Given the description of an element on the screen output the (x, y) to click on. 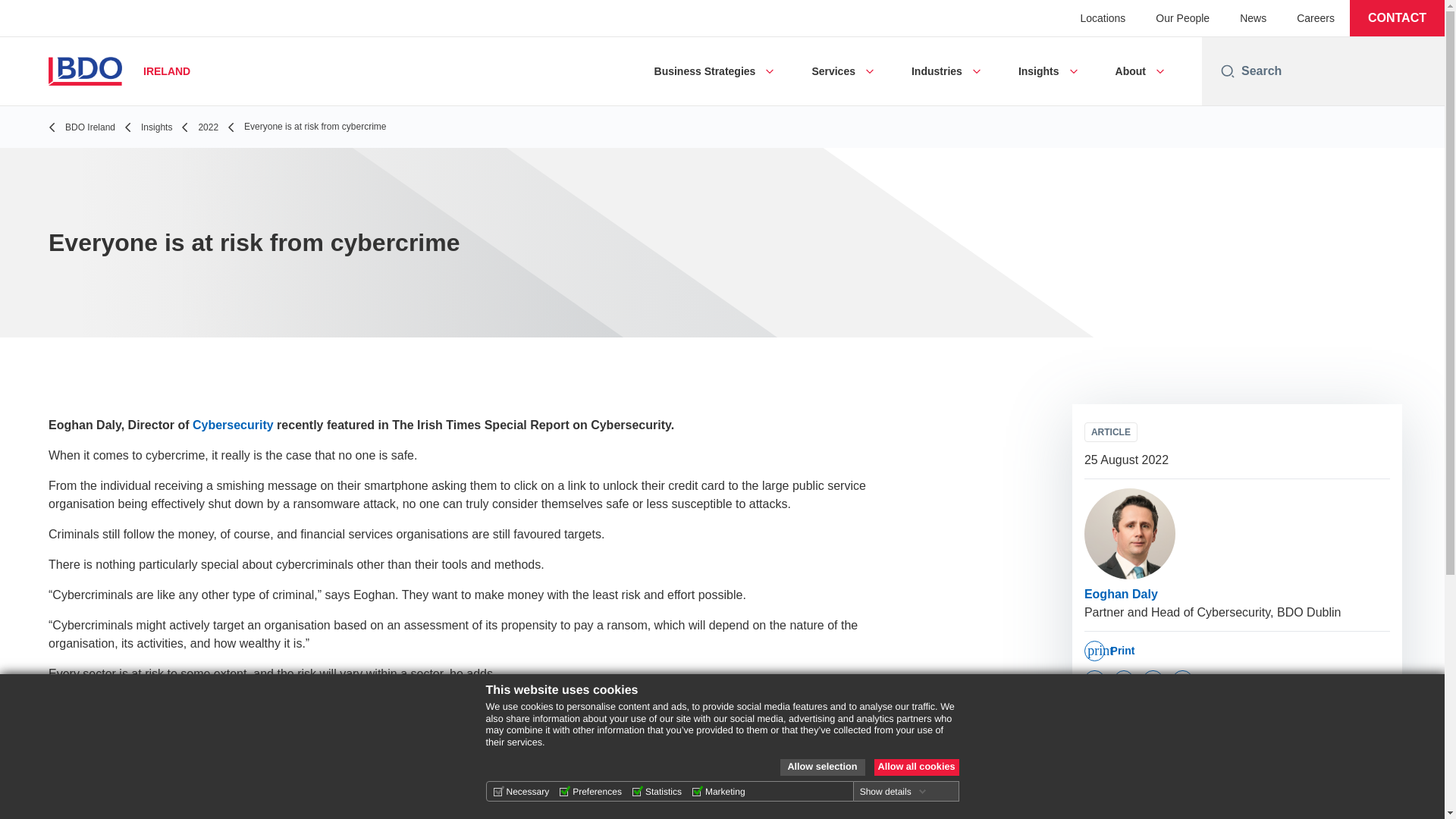
Allow selection (821, 767)
Show details (893, 791)
Allow all cookies (915, 767)
